Given the description of an element on the screen output the (x, y) to click on. 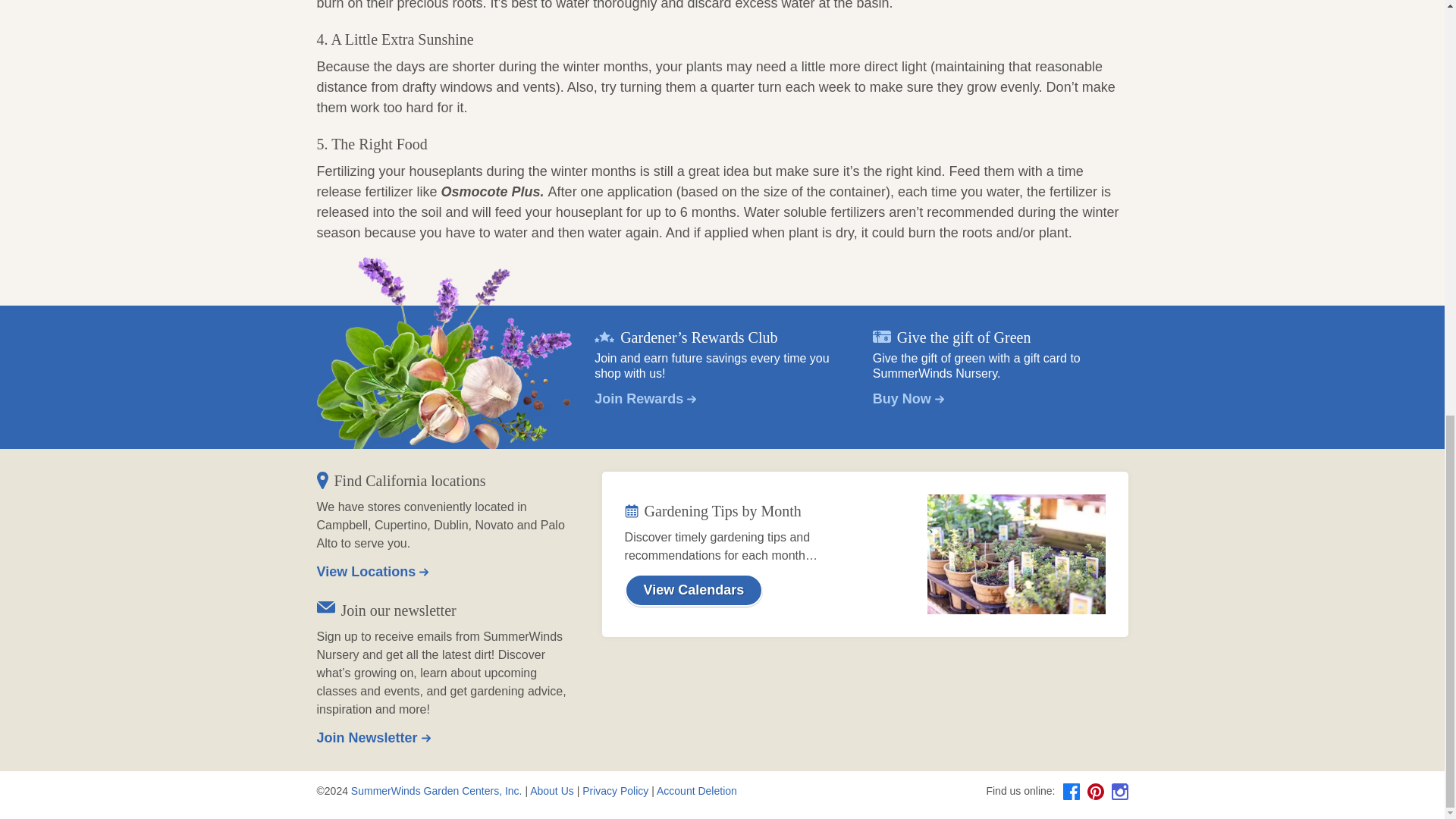
Gift Card icon (881, 336)
